Given the description of an element on the screen output the (x, y) to click on. 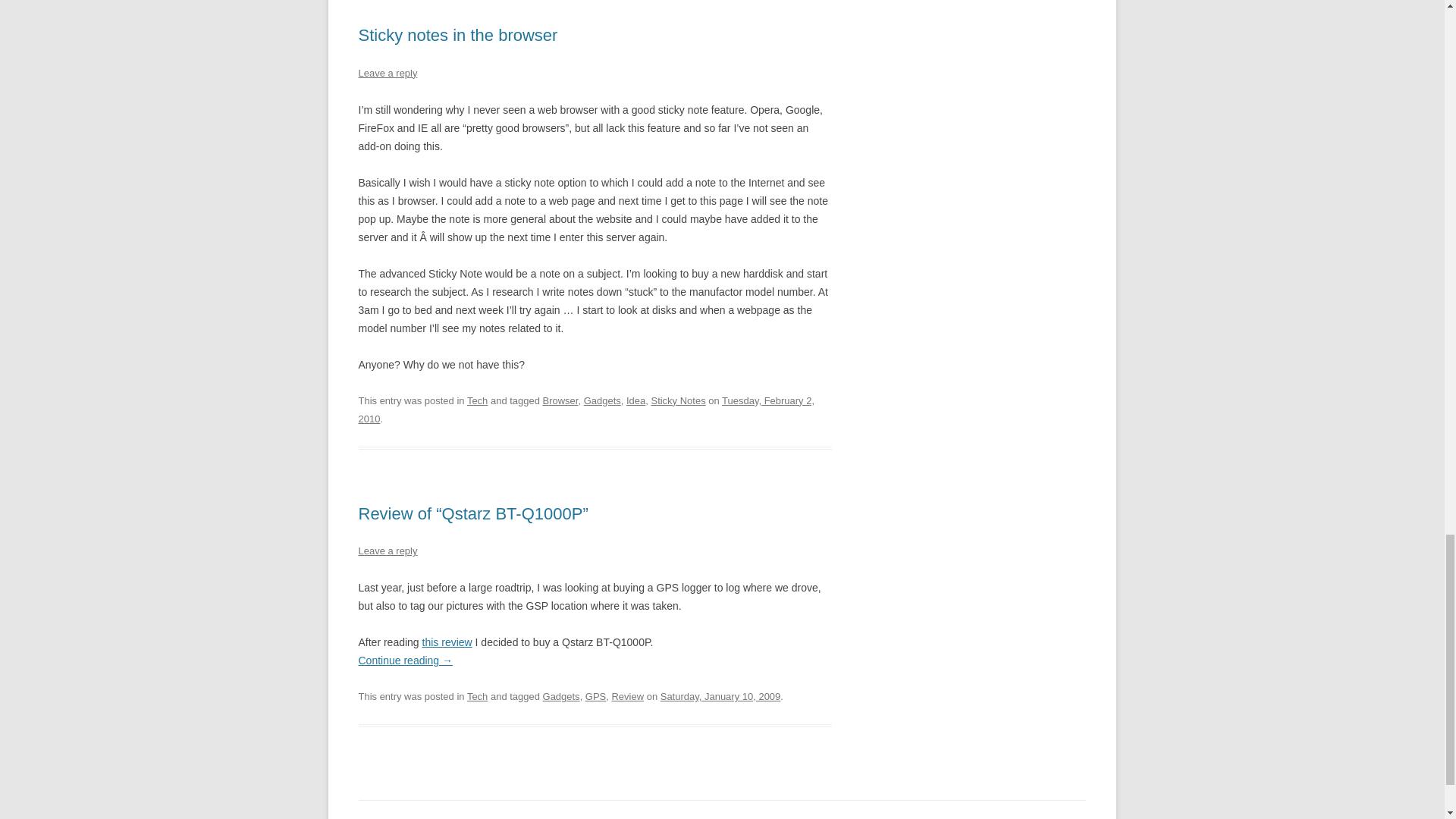
2:31 (585, 409)
Leave a reply (387, 72)
Tech (477, 400)
Browser (560, 400)
Sticky notes in the browser (457, 35)
14:33 (720, 696)
